Given the description of an element on the screen output the (x, y) to click on. 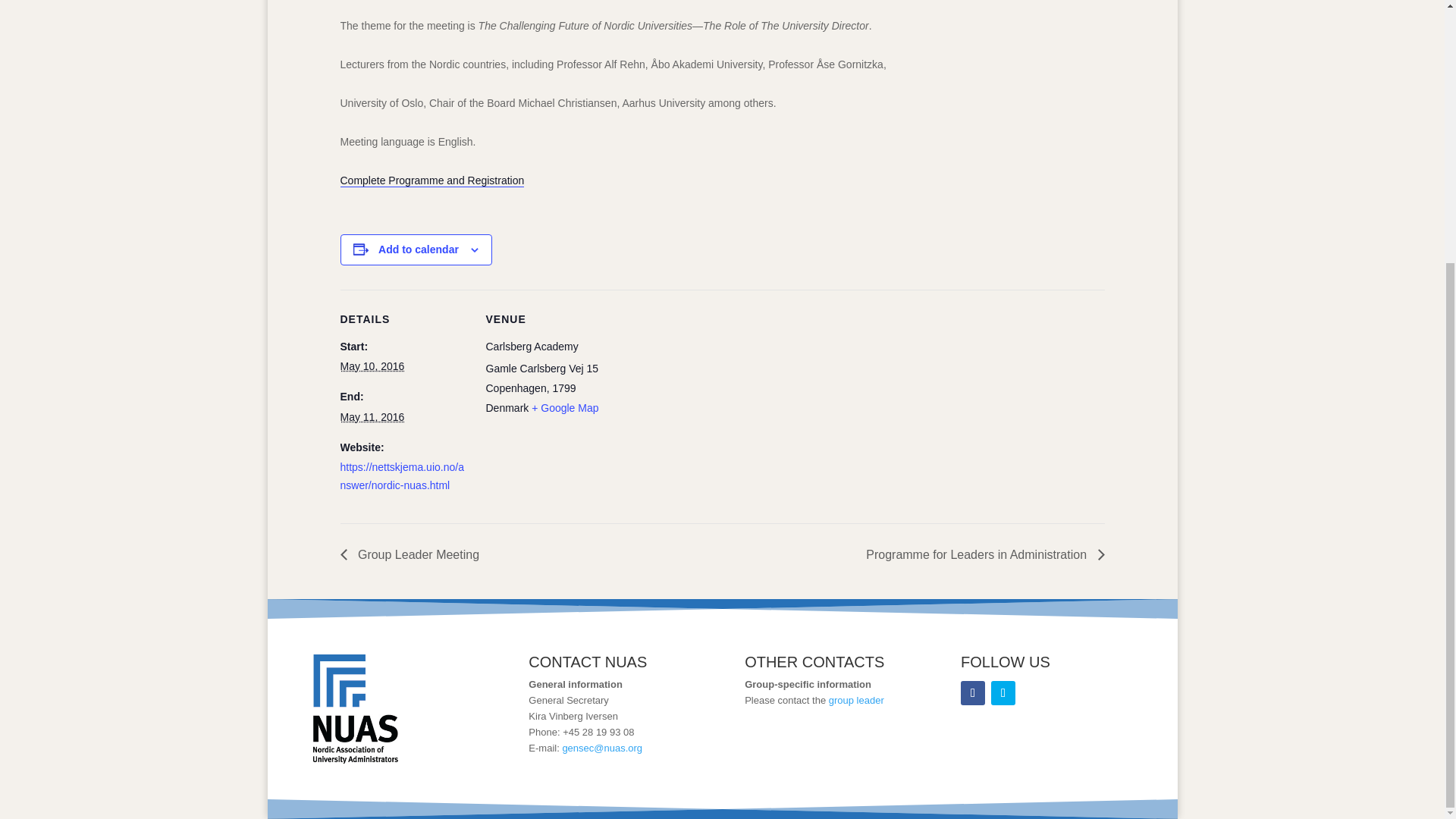
Click to view a Google Map (564, 408)
2016-05-11 (371, 417)
Follow on Twitter (1002, 692)
Follow on Facebook (972, 692)
2016-05-10 (371, 366)
